Given the description of an element on the screen output the (x, y) to click on. 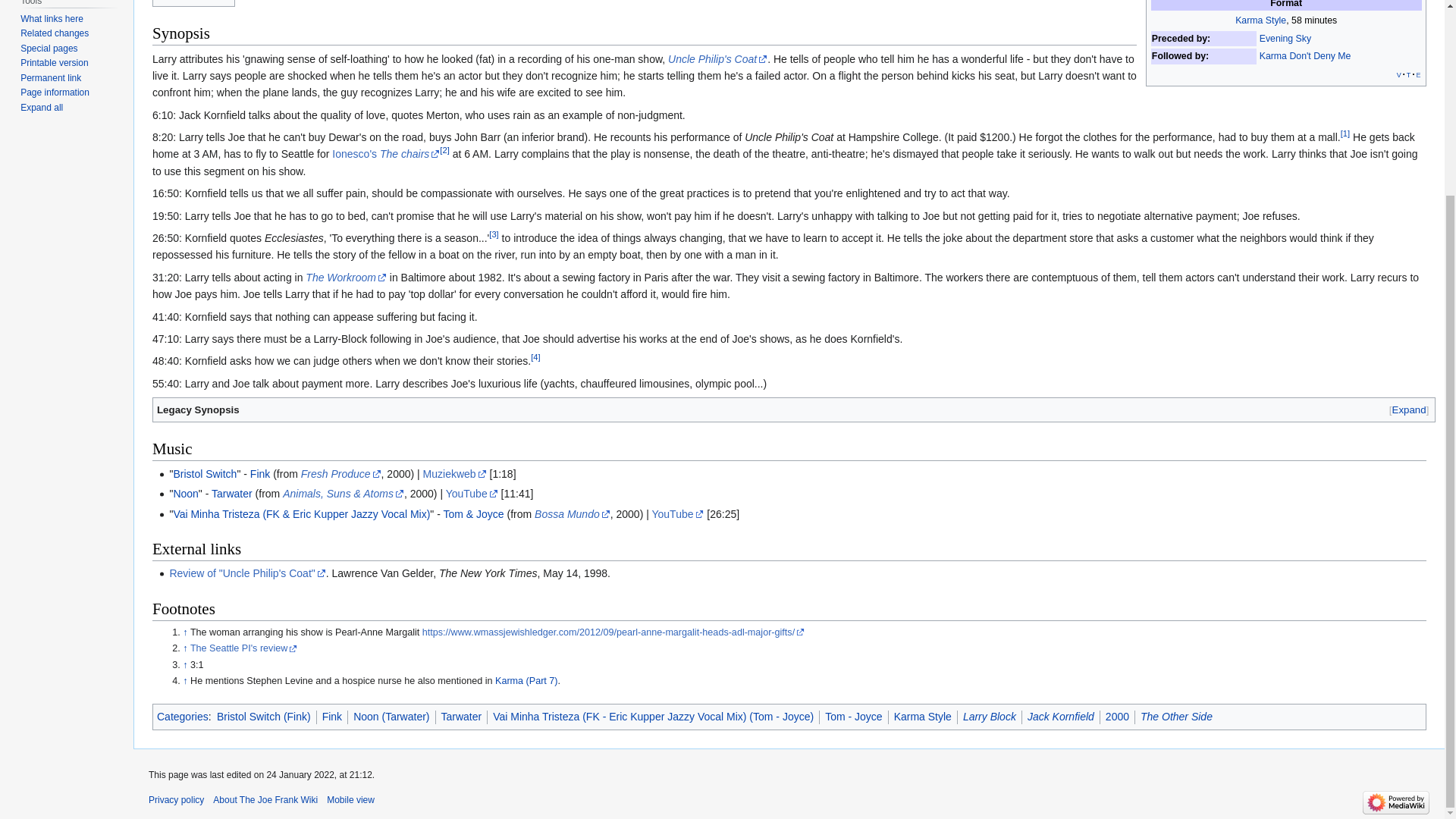
Fresh Produce (341, 473)
Evening Sky (1285, 38)
The Workroom (346, 277)
Fink (259, 473)
Karma Don't Deny Me (1305, 55)
Uncle Philip's Coat (717, 59)
Noon (185, 493)
Bristol Switch (204, 473)
Tarwater (231, 493)
YouTube (471, 493)
Expand (1409, 409)
Muziekweb (454, 473)
Karma Style (1259, 20)
Karma Don't Deny Me (1305, 55)
Bossa Mundo (572, 513)
